Given the description of an element on the screen output the (x, y) to click on. 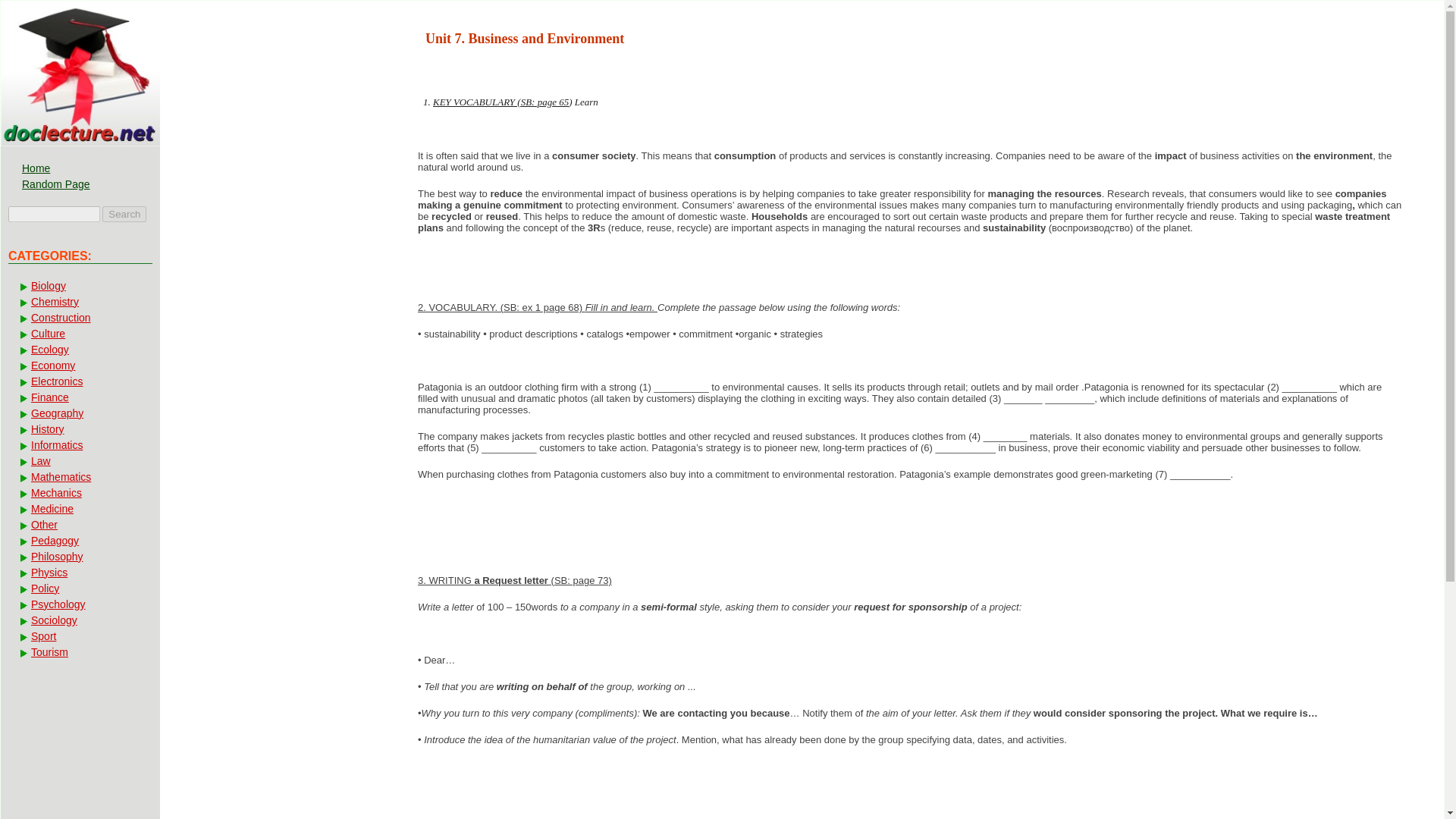
Chemistry (79, 301)
Tourism (79, 652)
Sociology (79, 620)
Physics (79, 572)
Electronics (79, 381)
Culture (79, 333)
Informatics (79, 445)
Advertisement (280, 235)
Policy (79, 588)
Sport (79, 635)
Law (79, 460)
Psychology (79, 603)
Pedagogy (79, 540)
History (79, 428)
Medicine (79, 508)
